Given the description of an element on the screen output the (x, y) to click on. 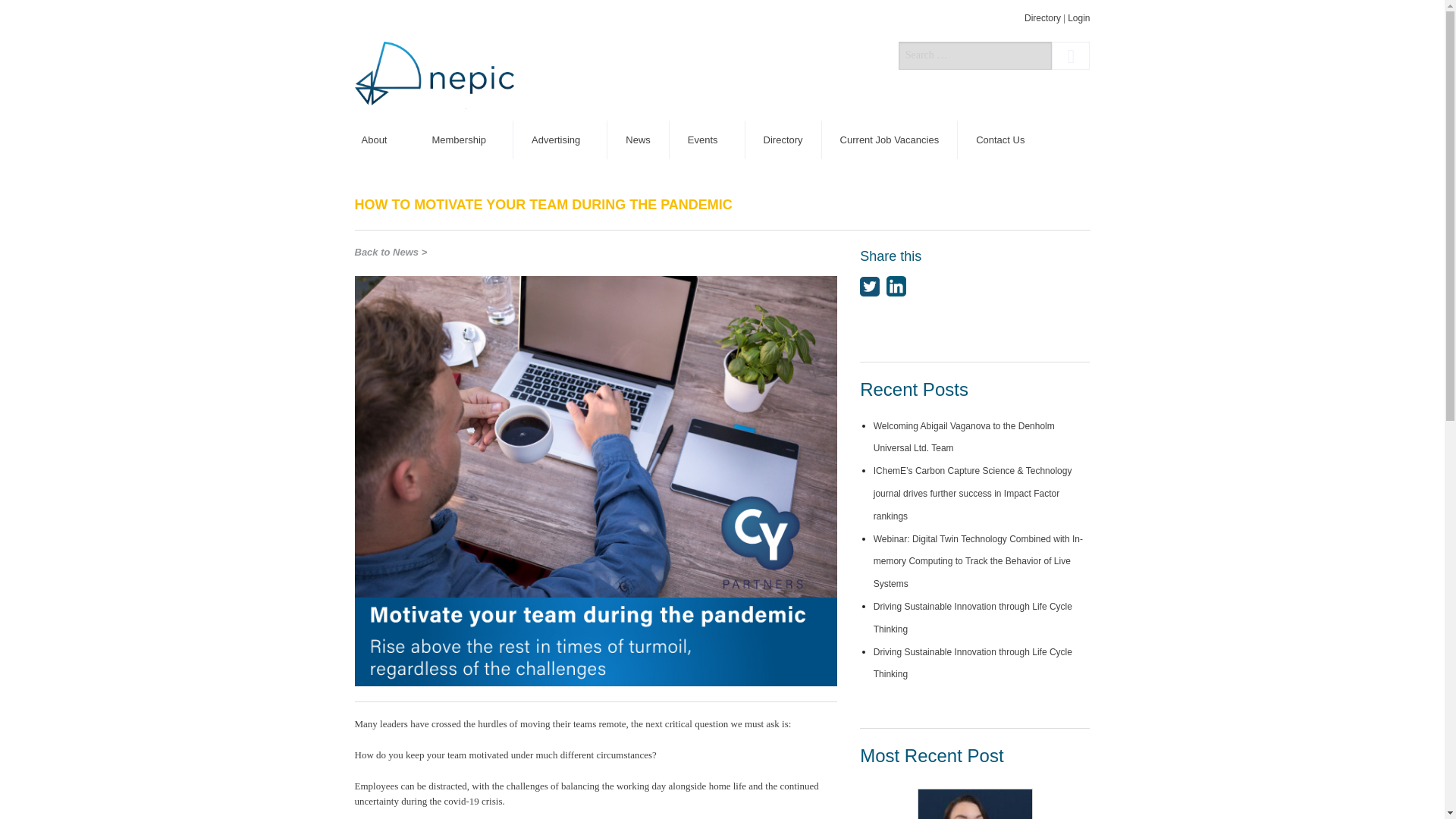
About (377, 139)
Meet the Team (377, 178)
Membership (463, 139)
Events (707, 139)
Upcoming Events (707, 178)
Contact Us (1000, 139)
Sectors (377, 294)
News (638, 139)
Advertising (560, 139)
Search for: (974, 55)
Directory (1043, 18)
DIGITAL (560, 178)
Special Interest Groups (377, 217)
Directory (783, 139)
Benefits (463, 178)
